Given the description of an element on the screen output the (x, y) to click on. 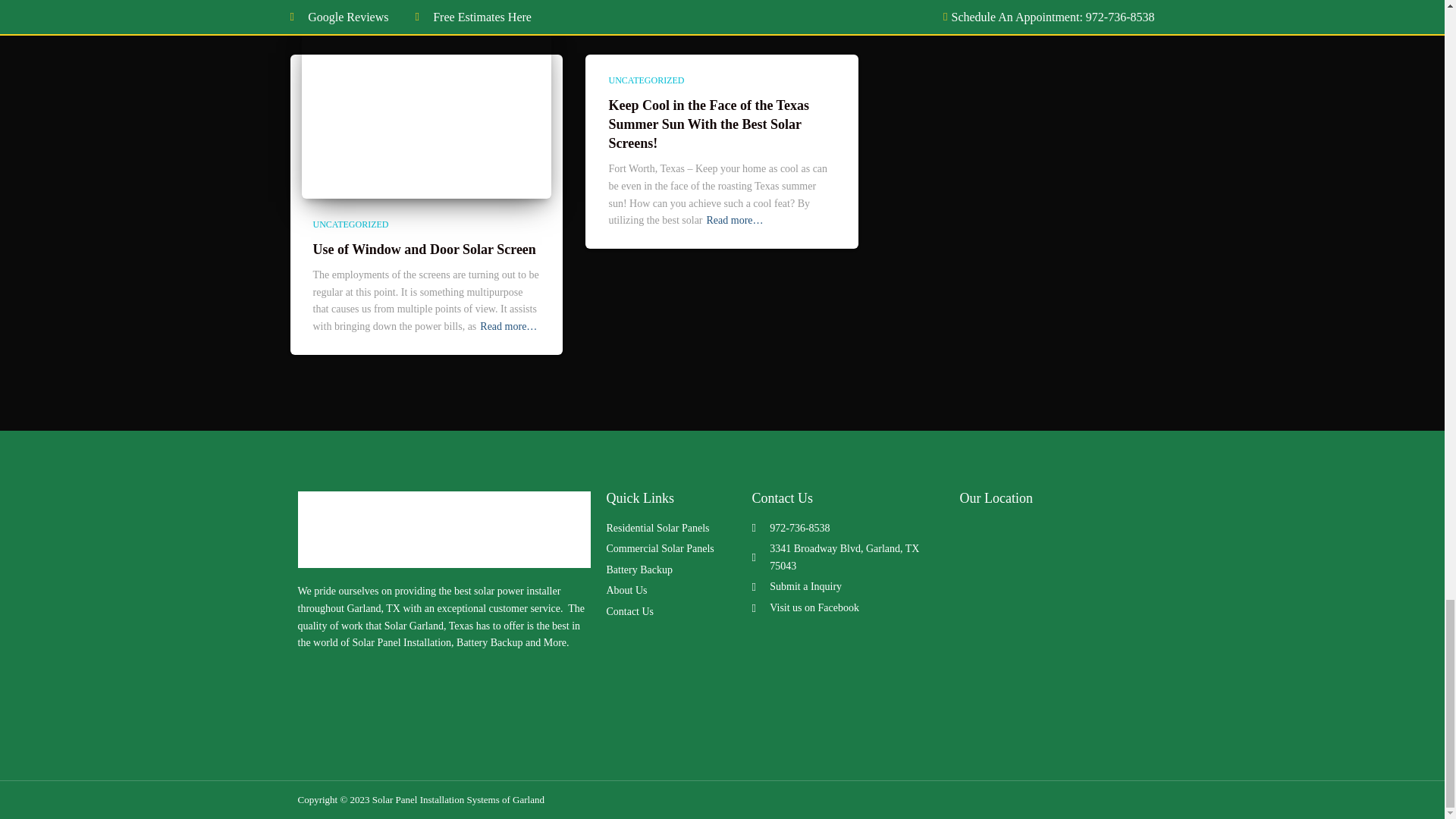
View all posts in Uncategorized (350, 224)
View all posts in Uncategorized (646, 80)
Use of Window and Door Solar Screen (426, 114)
Use of Window and Door Solar Screen (424, 249)
